Given the description of an element on the screen output the (x, y) to click on. 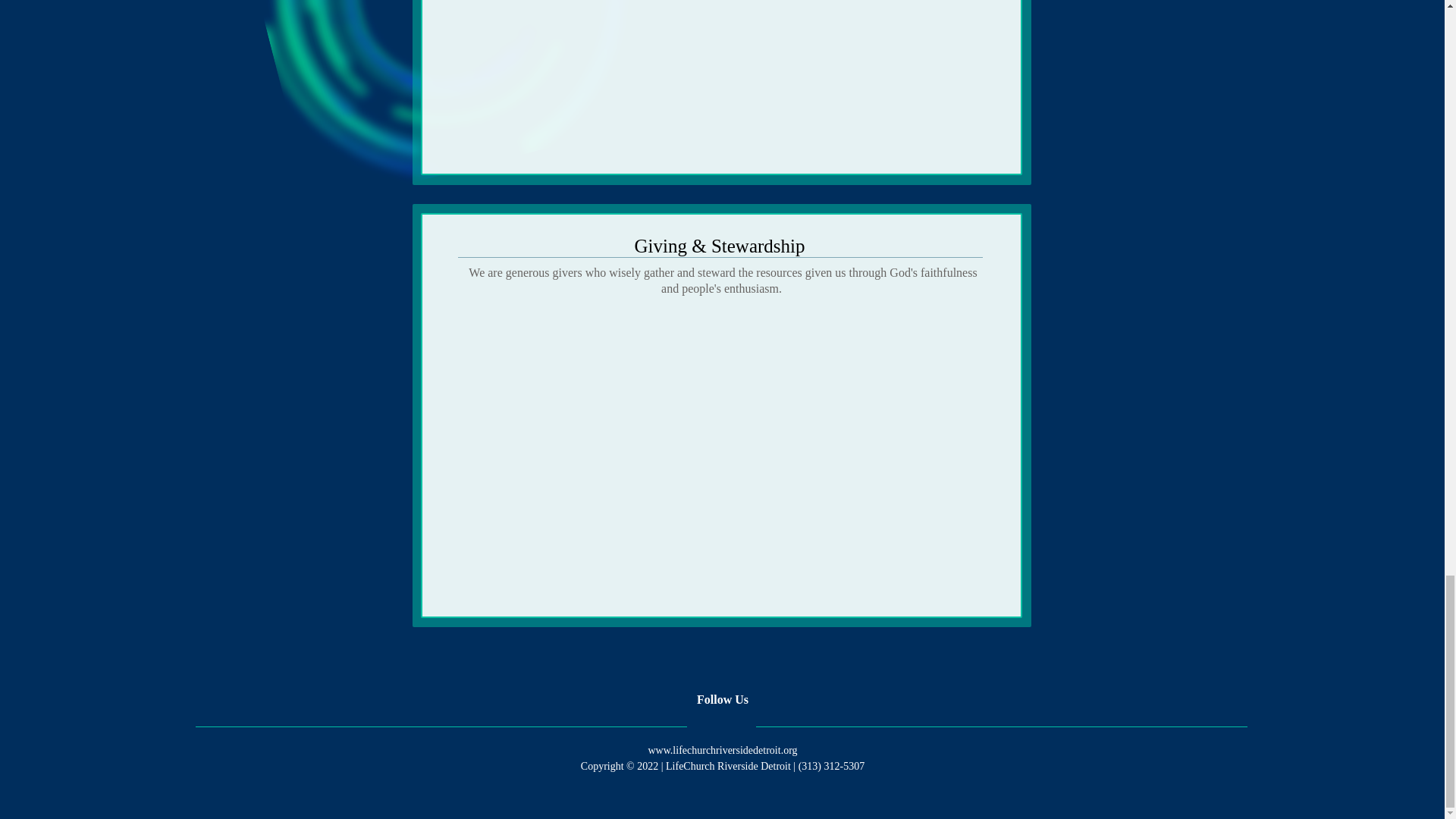
www.lifechurchriversidedetroit.org (721, 749)
